Given the description of an element on the screen output the (x, y) to click on. 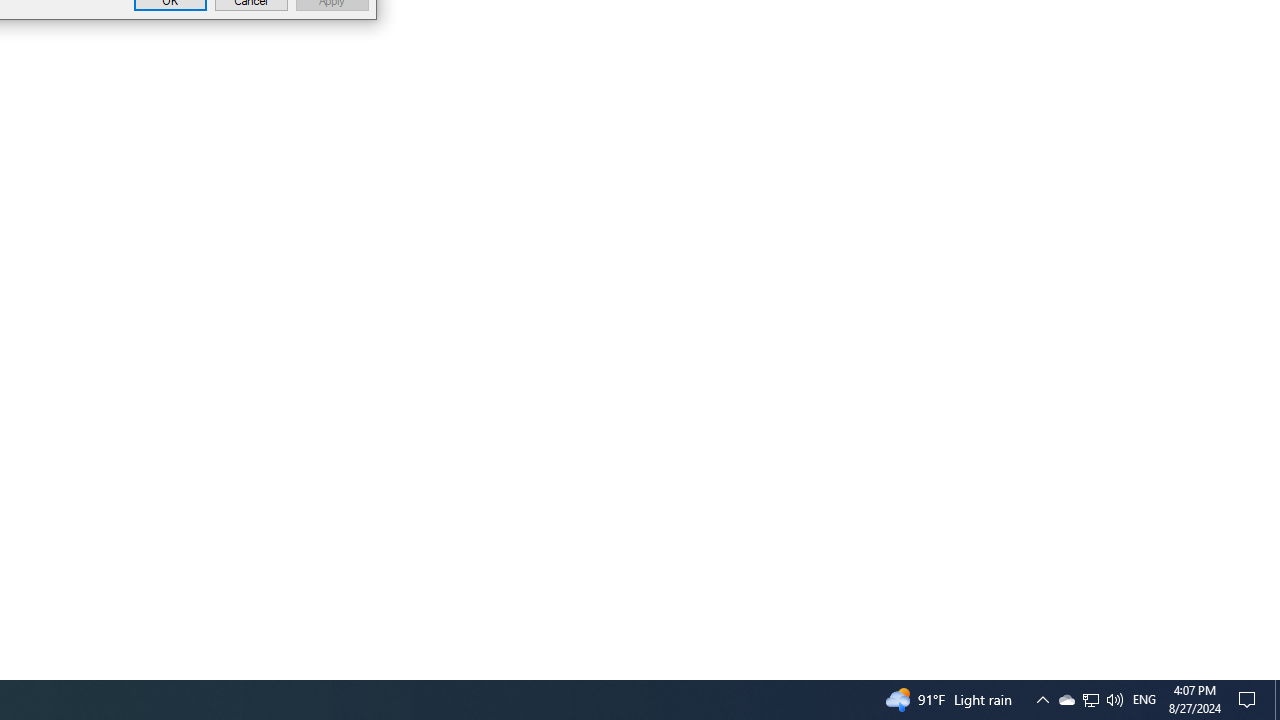
User Promoted Notification Area (1090, 699)
Notification Chevron (1042, 699)
Action Center, No new notifications (1066, 699)
Show desktop (1091, 699)
Q2790: 100% (1250, 699)
Tray Input Indicator - English (United States) (1277, 699)
